Given the description of an element on the screen output the (x, y) to click on. 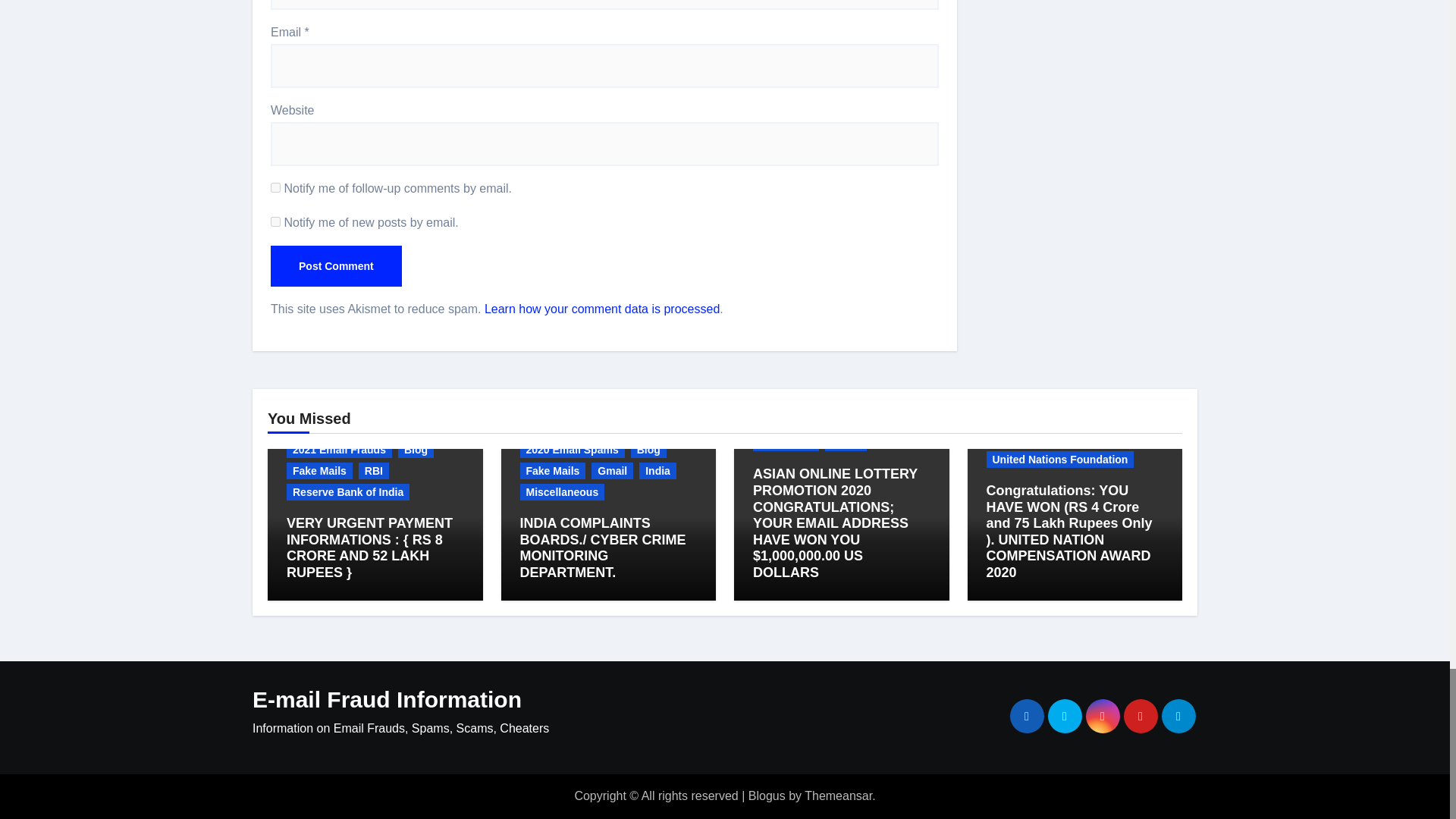
subscribe (275, 221)
subscribe (275, 187)
Post Comment (335, 265)
